Given the description of an element on the screen output the (x, y) to click on. 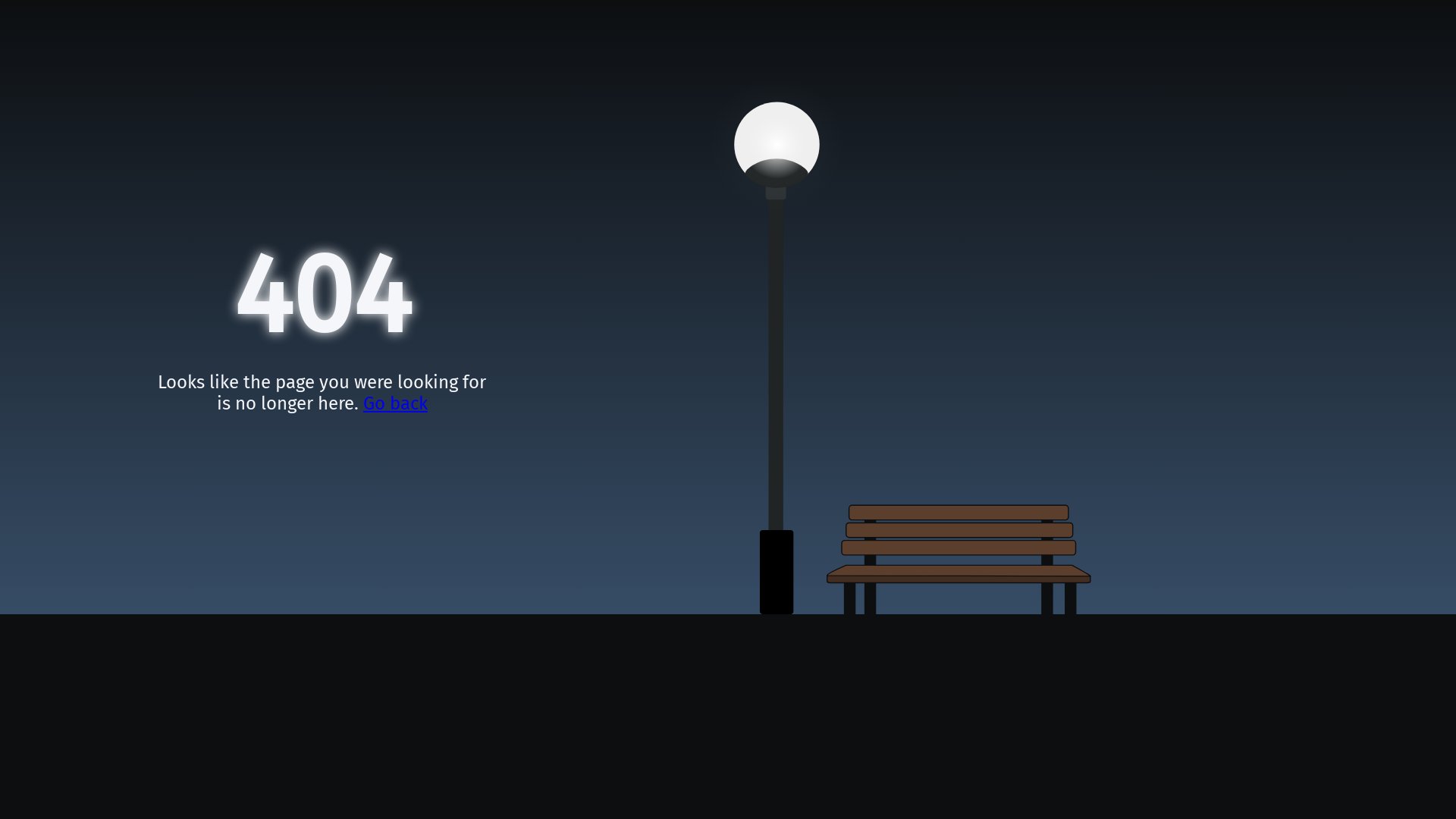
Go back Element type: text (395, 403)
